Given the description of an element on the screen output the (x, y) to click on. 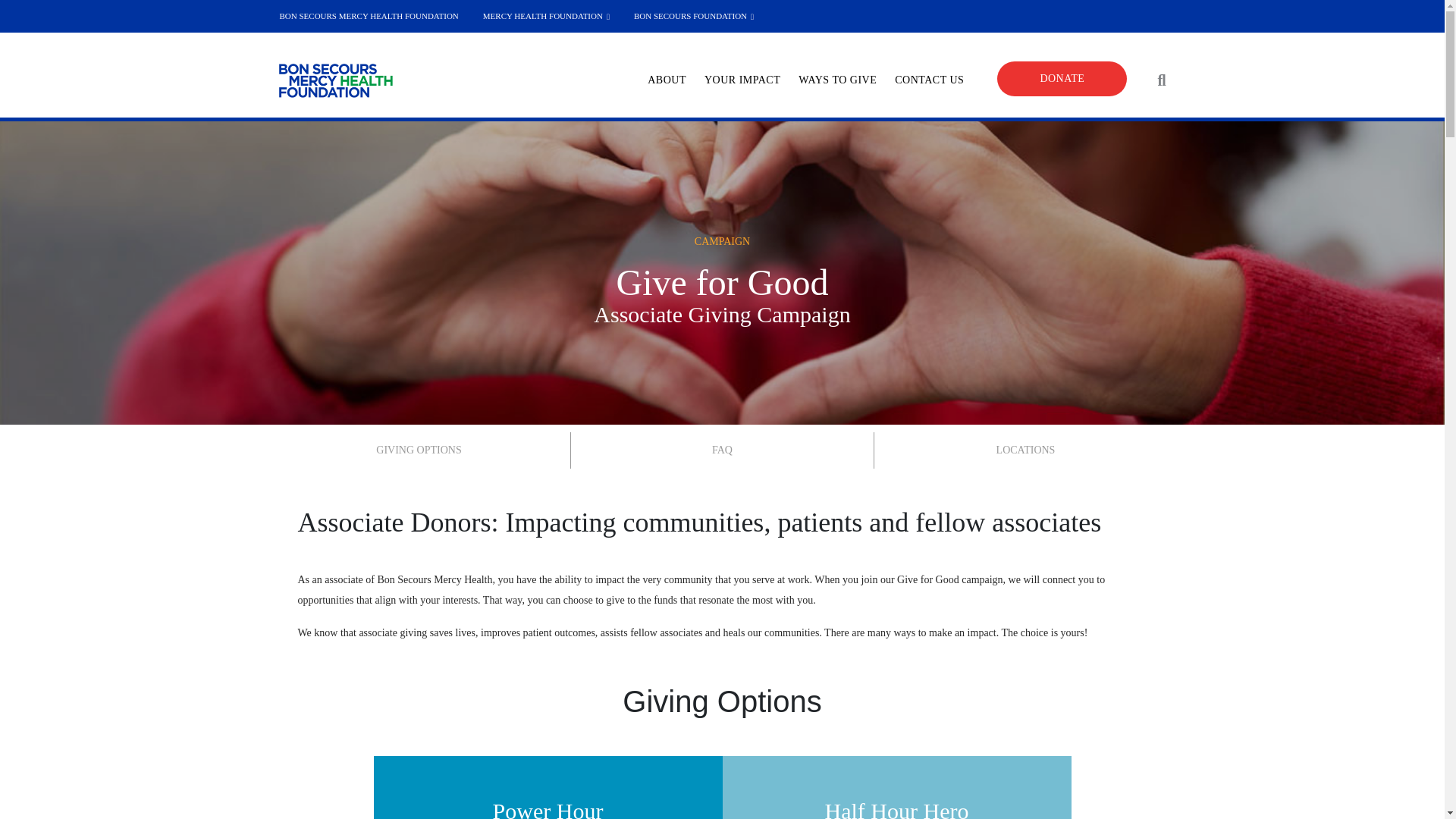
BON SECOURS FOUNDATION (693, 16)
MERCY HEALTH FOUNDATION (546, 16)
BON SECOURS MERCY HEALTH FOUNDATION (368, 16)
